Given the description of an element on the screen output the (x, y) to click on. 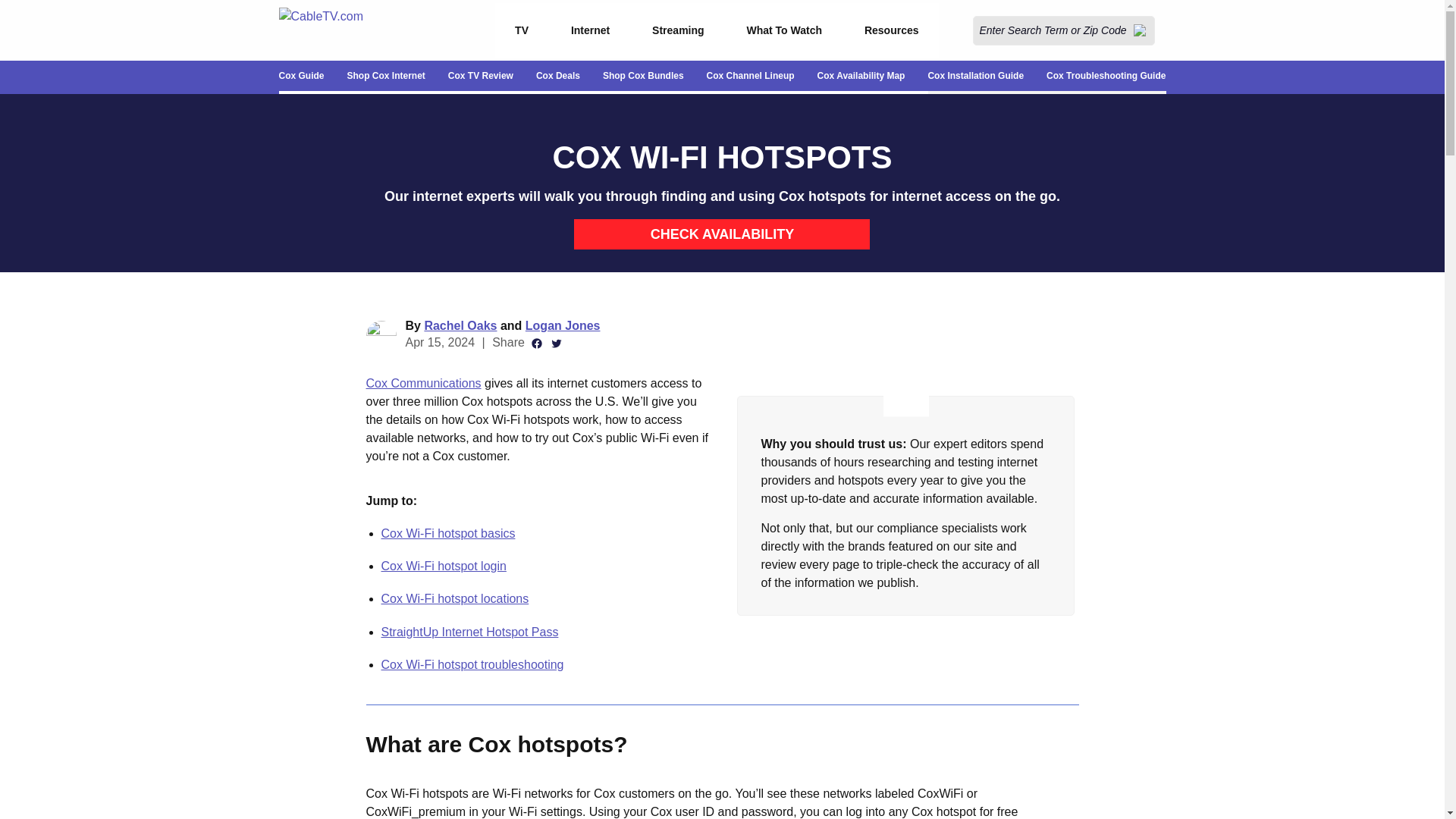
Internet (589, 30)
Posts by Rachel Oaks (459, 325)
Posts by Logan Jones (562, 325)
Streaming (677, 30)
TV (521, 30)
